Given the description of an element on the screen output the (x, y) to click on. 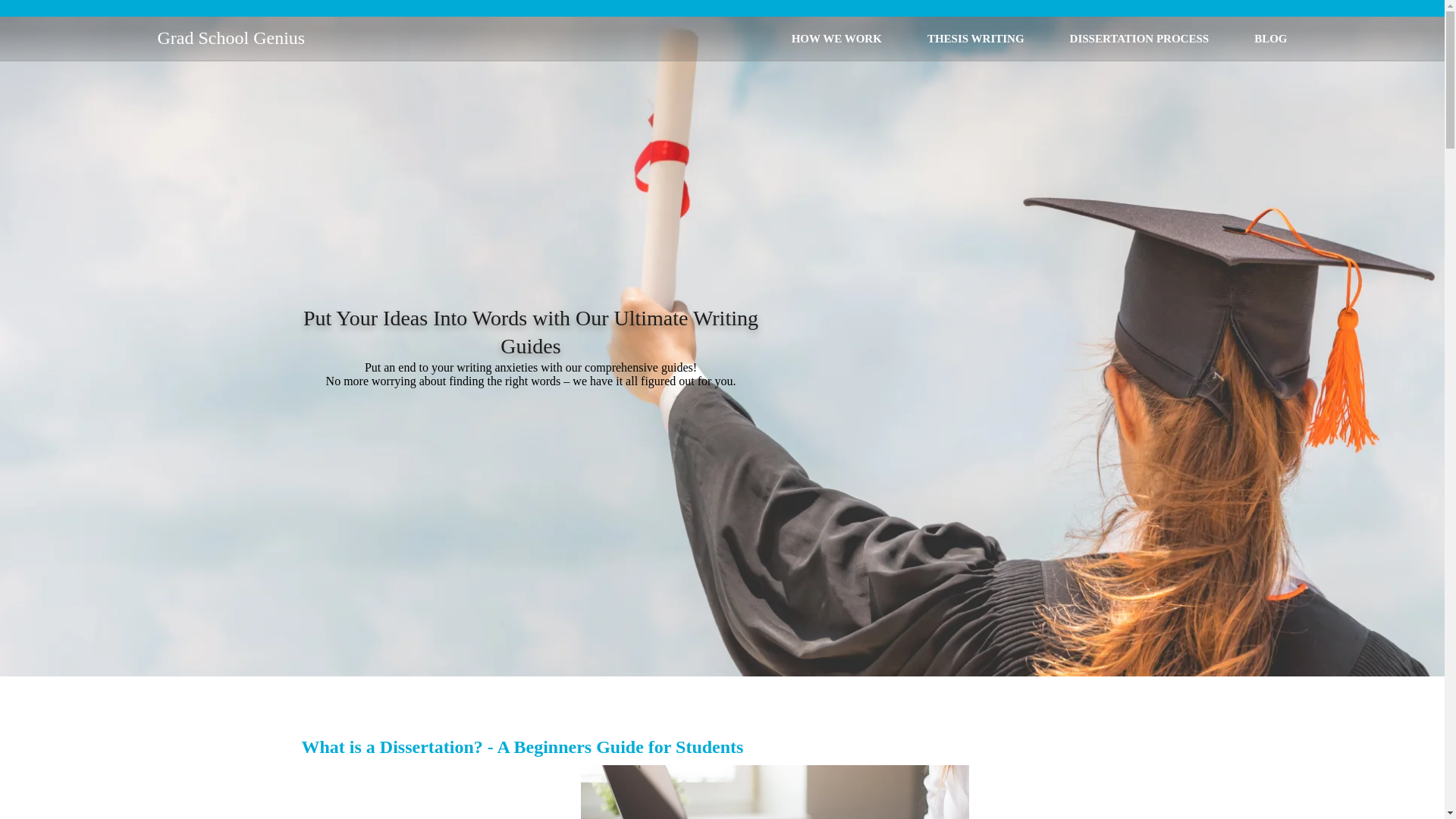
THESIS WRITING (976, 38)
What is a Dissertation? - A Beginners Guide for Students (522, 746)
DISSERTATION PROCESS (1139, 38)
BLOG (1270, 38)
HOW WE WORK (837, 38)
Grad School Genius (231, 37)
